Given the description of an element on the screen output the (x, y) to click on. 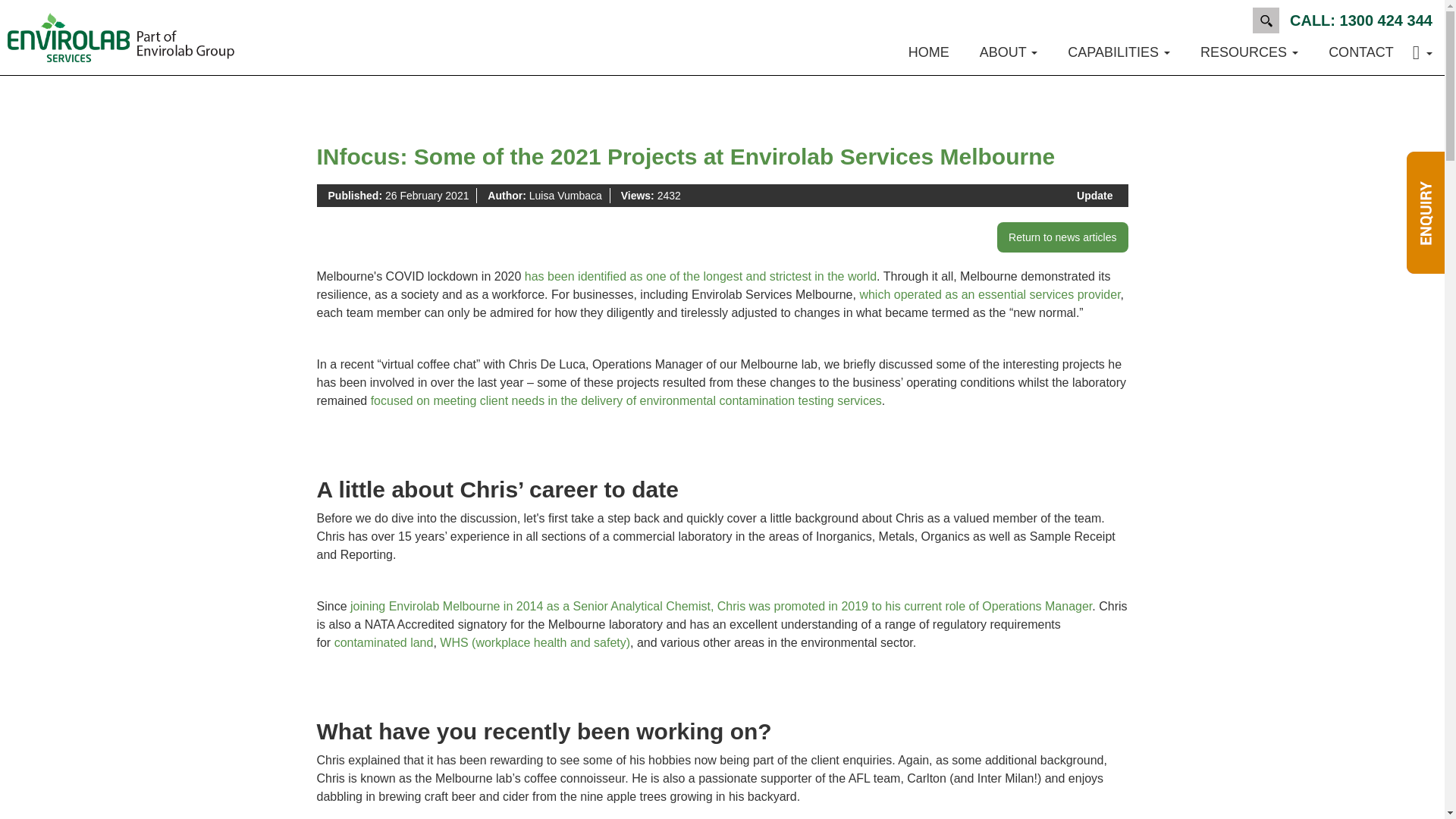
CAPABILITIES Element type: text (1118, 51)
Envirolab Services - Australia Element type: hover (121, 36)
HOME Element type: text (928, 51)
contaminated land Element type: text (383, 642)
ABOUT Element type: text (1008, 51)
which operated as an essential services provider Element type: text (989, 294)
RESOURCES Element type: text (1249, 51)
Search Element type: text (1265, 20)
WHS (workplace health and safety) Element type: text (534, 642)
Return to news articles Element type: text (1062, 237)
CONTACT Element type: text (1360, 51)
